Given the description of an element on the screen output the (x, y) to click on. 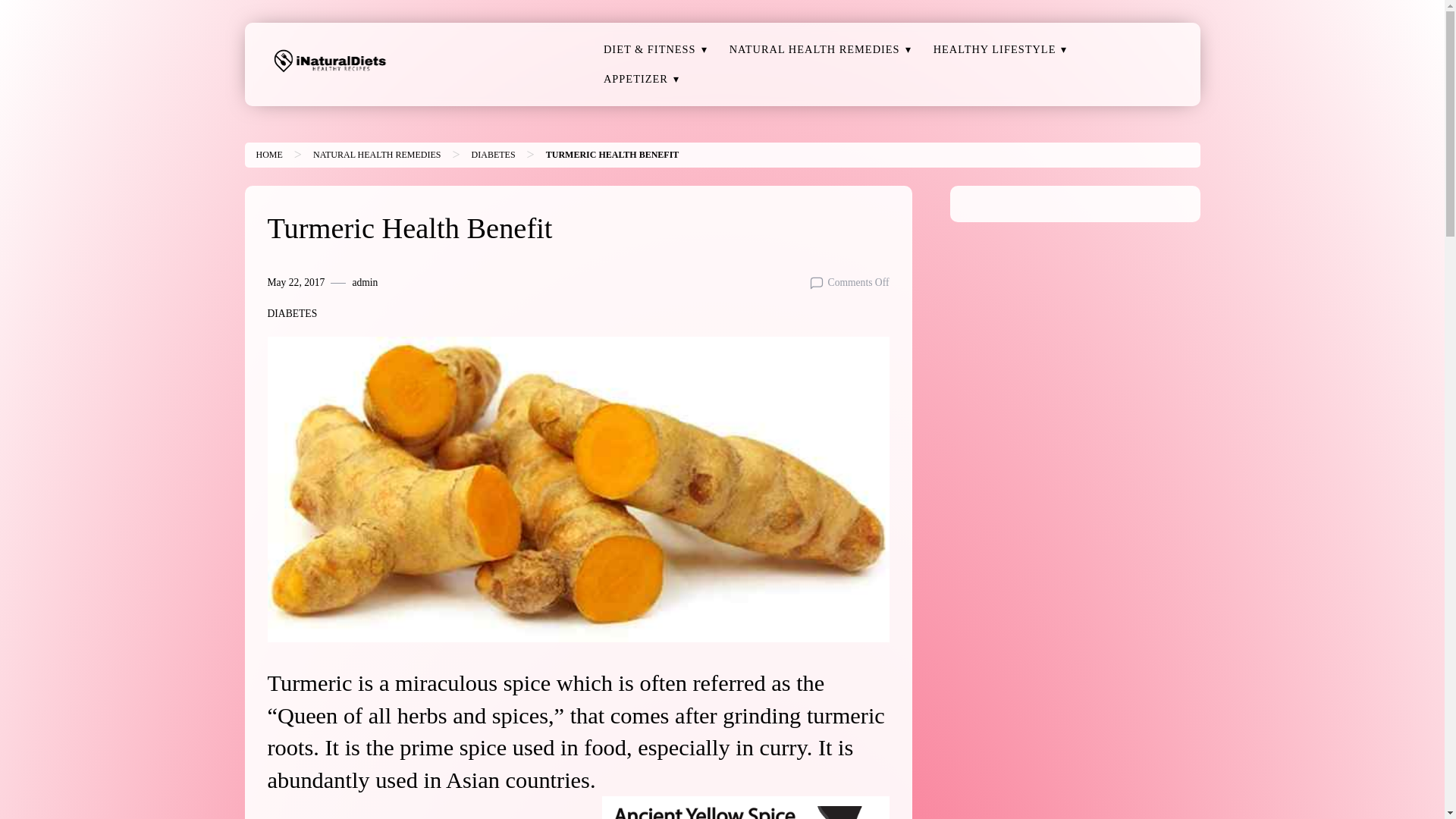
May 22, 2017 (295, 282)
admin (364, 282)
DIABETES (291, 313)
NATURAL HEALTH REMEDIES (377, 154)
APPETIZER (635, 79)
Home (269, 154)
HOME (269, 154)
HEALTHY LIFESTYLE (994, 49)
NATURAL HEALTH REMEDIES (814, 49)
Turmeric Health Benefit (612, 154)
DIABETES (493, 154)
